Given the description of an element on the screen output the (x, y) to click on. 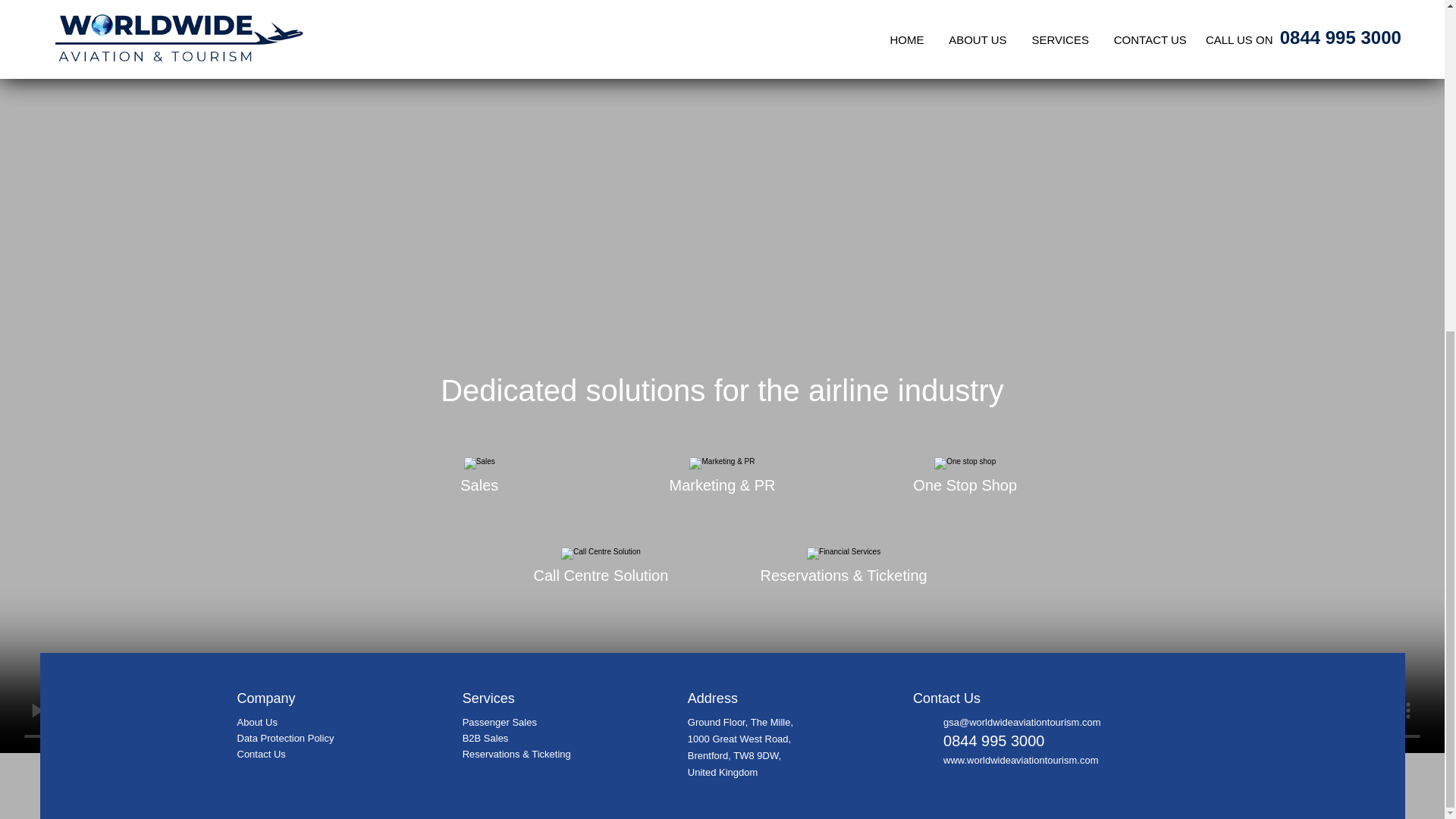
B2B Sales (485, 737)
About Us (255, 722)
Data Protection Policy (284, 737)
Contact Us (260, 754)
0844 995 3000 (993, 740)
www.worldwideaviationtourism.com (1020, 759)
Passenger Sales (500, 722)
